Given the description of an element on the screen output the (x, y) to click on. 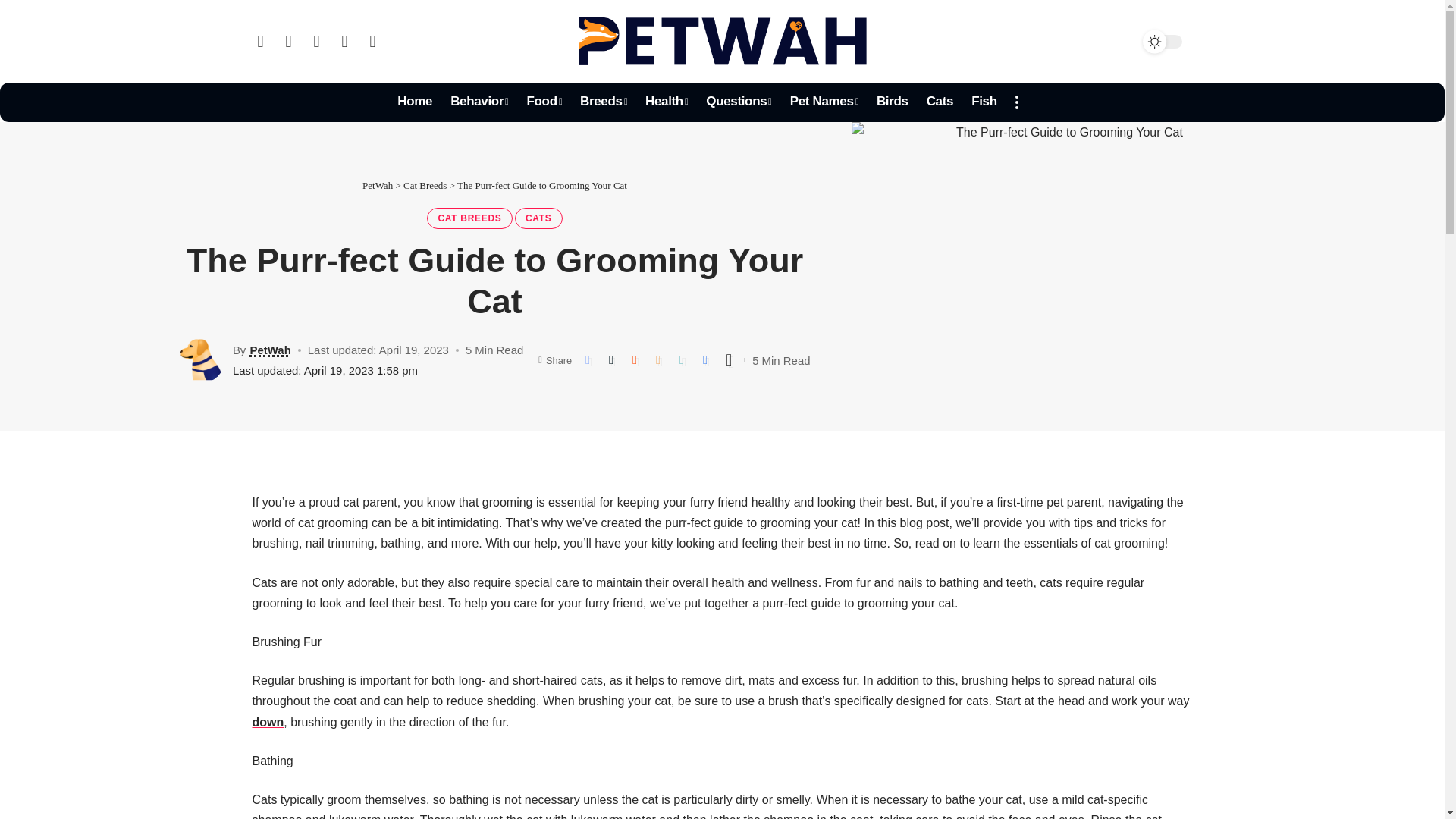
Fish (984, 102)
Pet Names (823, 102)
Breeds (603, 102)
Questions (738, 102)
Go to PetWah. (377, 184)
Go to the Cat Breeds Category archives. (424, 184)
Behavior (478, 102)
Birds (892, 102)
Home (414, 102)
Health (666, 102)
Food (543, 102)
Cats (939, 102)
